Given the description of an element on the screen output the (x, y) to click on. 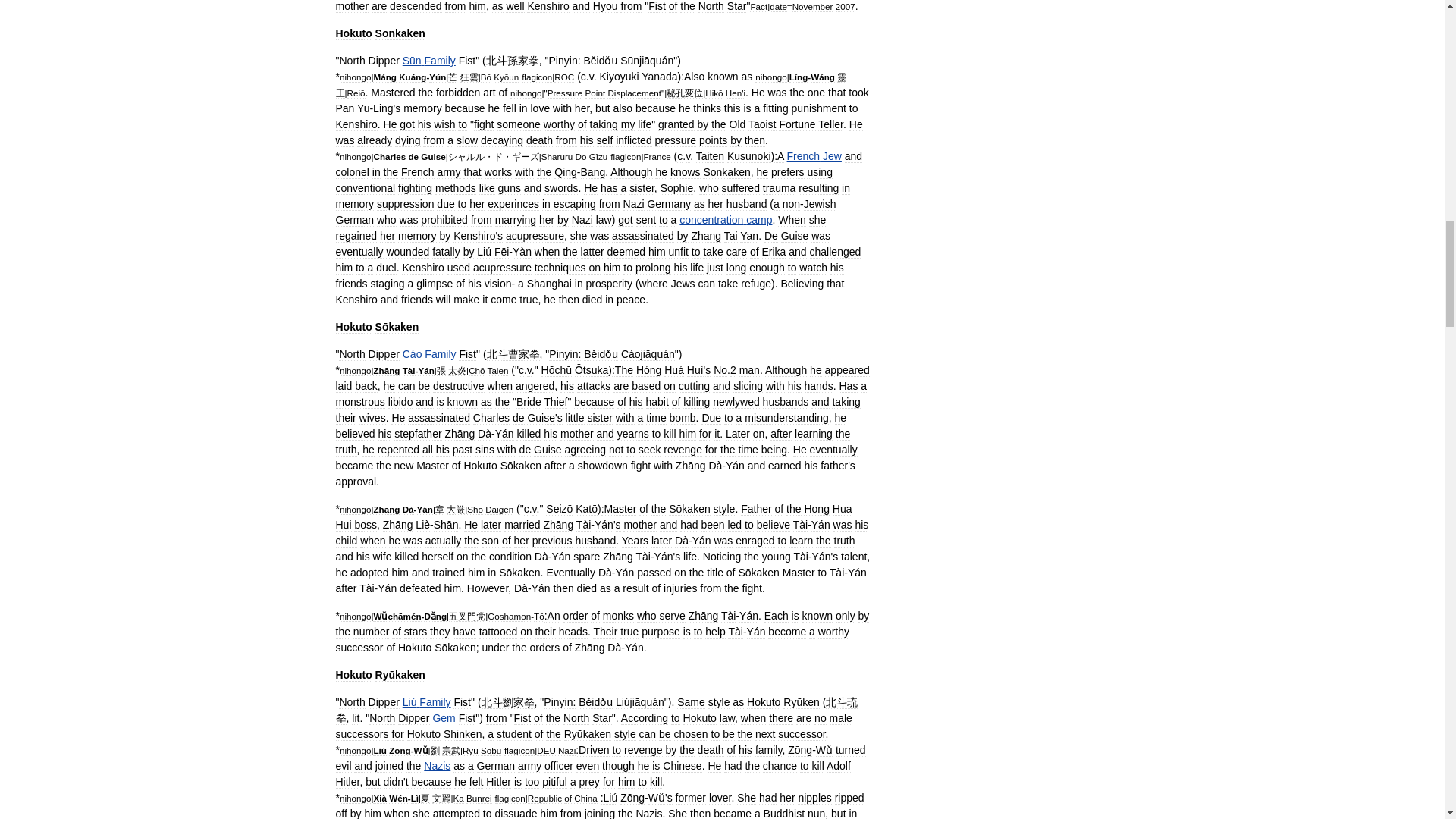
concentration camp (725, 219)
Nazis (436, 766)
French Jew (814, 155)
Gem (443, 717)
